Given the description of an element on the screen output the (x, y) to click on. 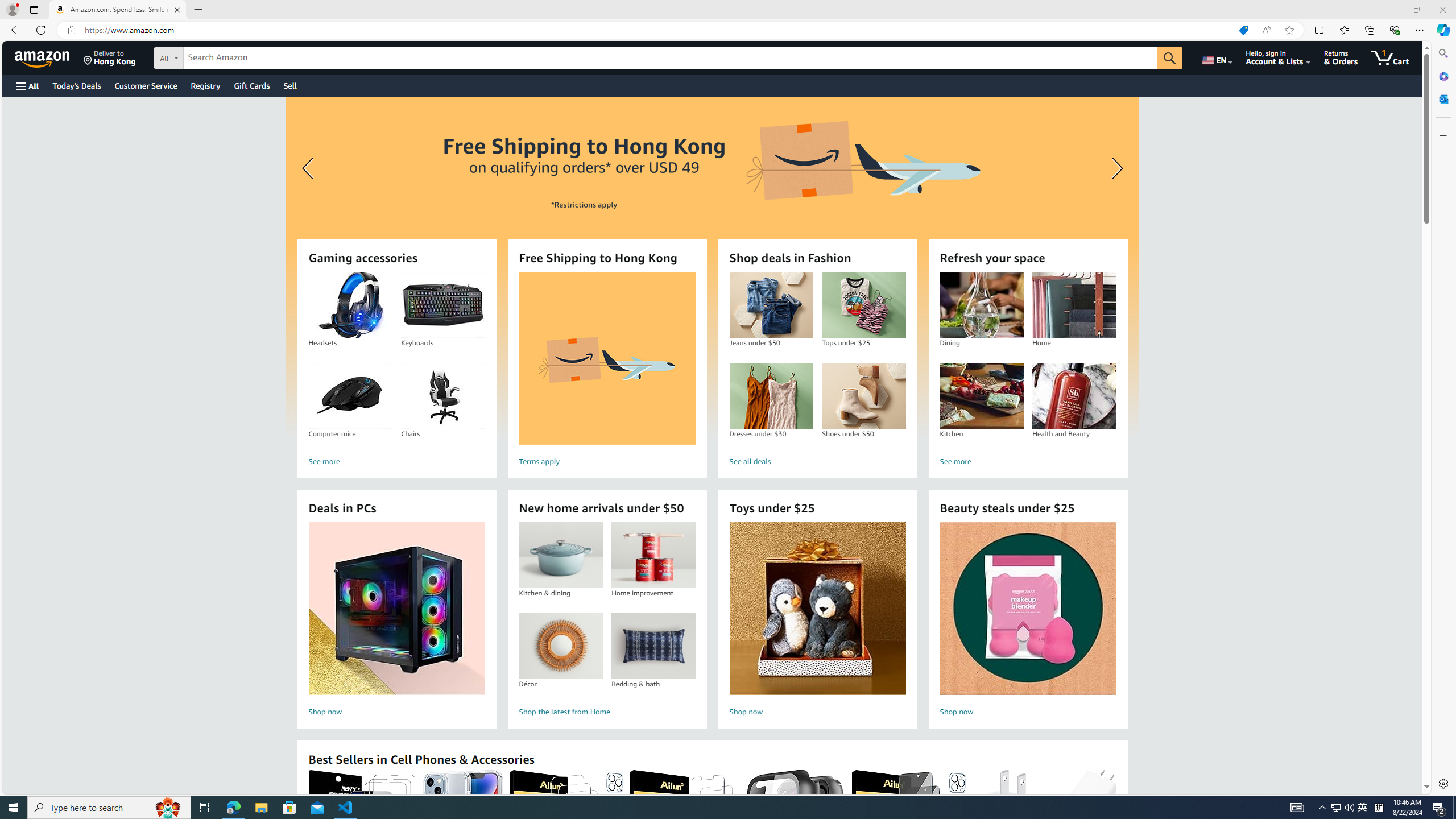
Microsoft Store (289, 807)
Go Back (Alt+LeftArrow) (546, 9)
Manage (13, 755)
Hello, sign in Account & Lists (1278, 57)
Deals in PCs Shop now (396, 620)
AutomationID: 4105 (1297, 807)
test.py (207, 29)
Source Control (Ctrl+Shift+G) (13, 87)
Search highlights icon opens search home window (167, 807)
Toggle Primary Side Bar (Ctrl+B) (1325, 9)
Home (1074, 304)
Views and More Actions... (1412, 539)
Today's Deals (76, 85)
New Tab (198, 9)
Accounts (13, 742)
